Given the description of an element on the screen output the (x, y) to click on. 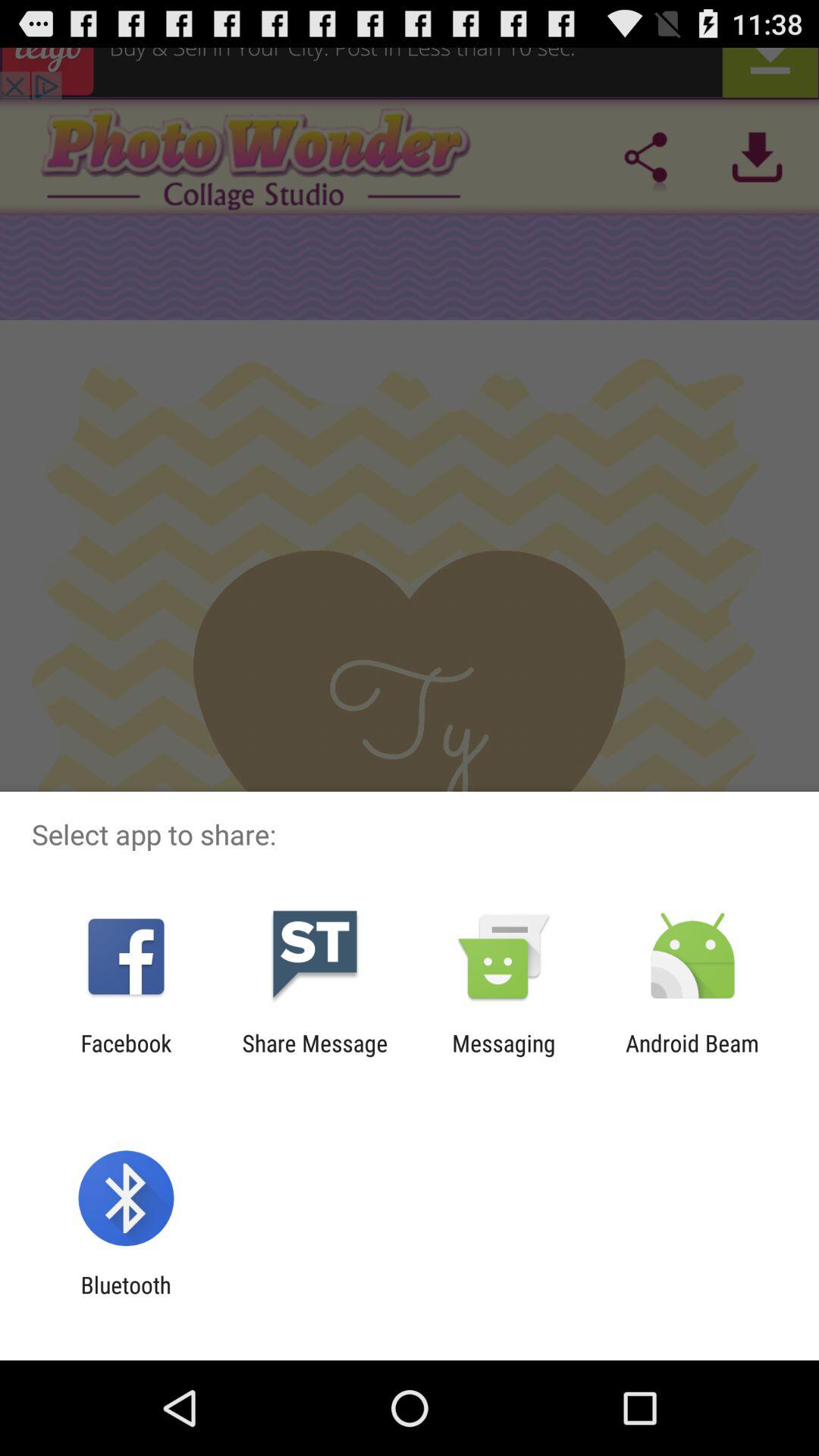
choose app to the left of the share message (125, 1056)
